Given the description of an element on the screen output the (x, y) to click on. 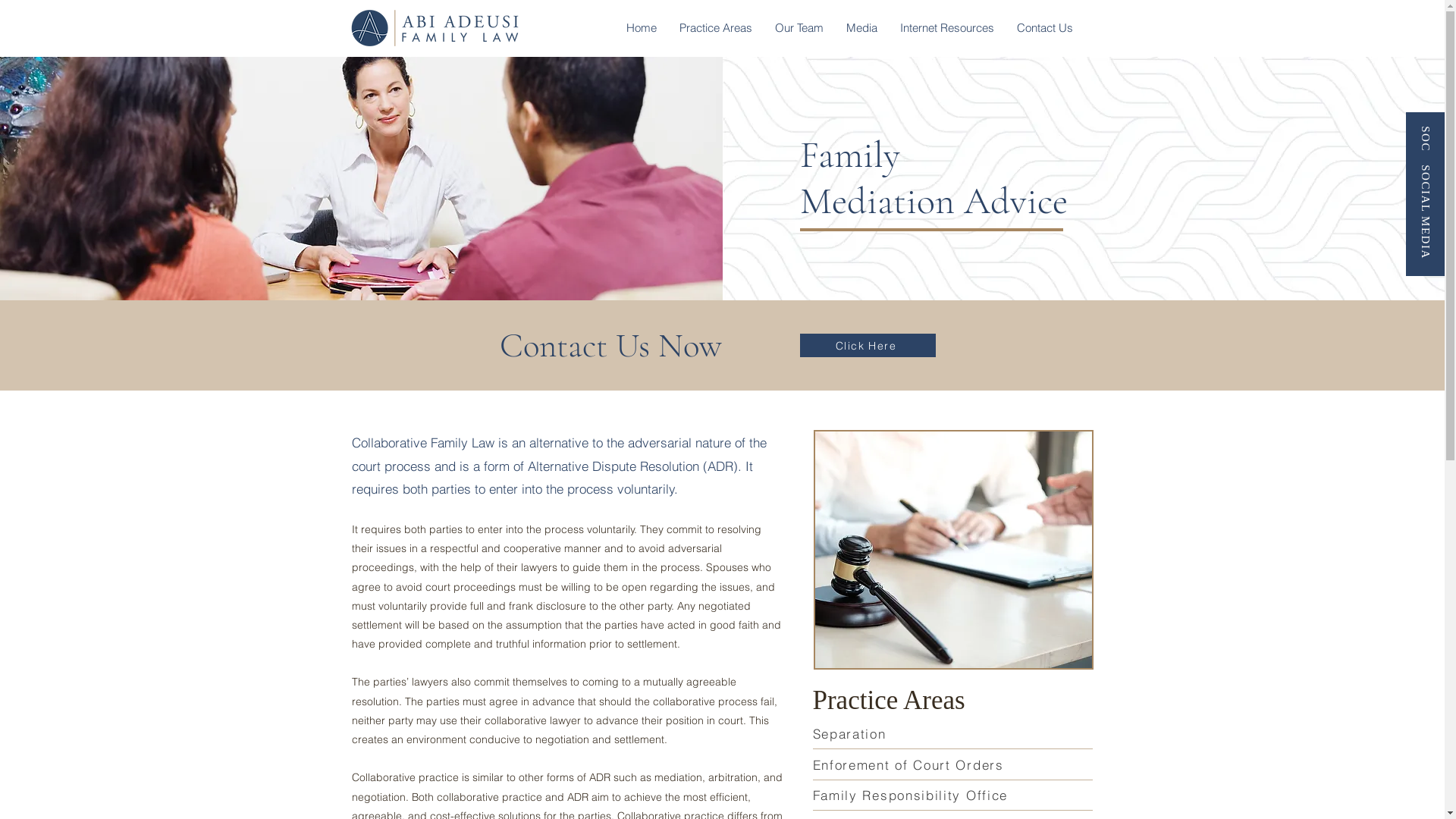
Contact Us Element type: text (1044, 28)
Home Element type: text (640, 28)
Click Here Element type: text (877, 474)
Family Responsibility Office Element type: text (952, 795)
Our Team Element type: text (798, 28)
Separation Element type: text (952, 733)
Click Here Element type: text (867, 345)
Enforement of Court Orders Element type: text (952, 764)
